Given the description of an element on the screen output the (x, y) to click on. 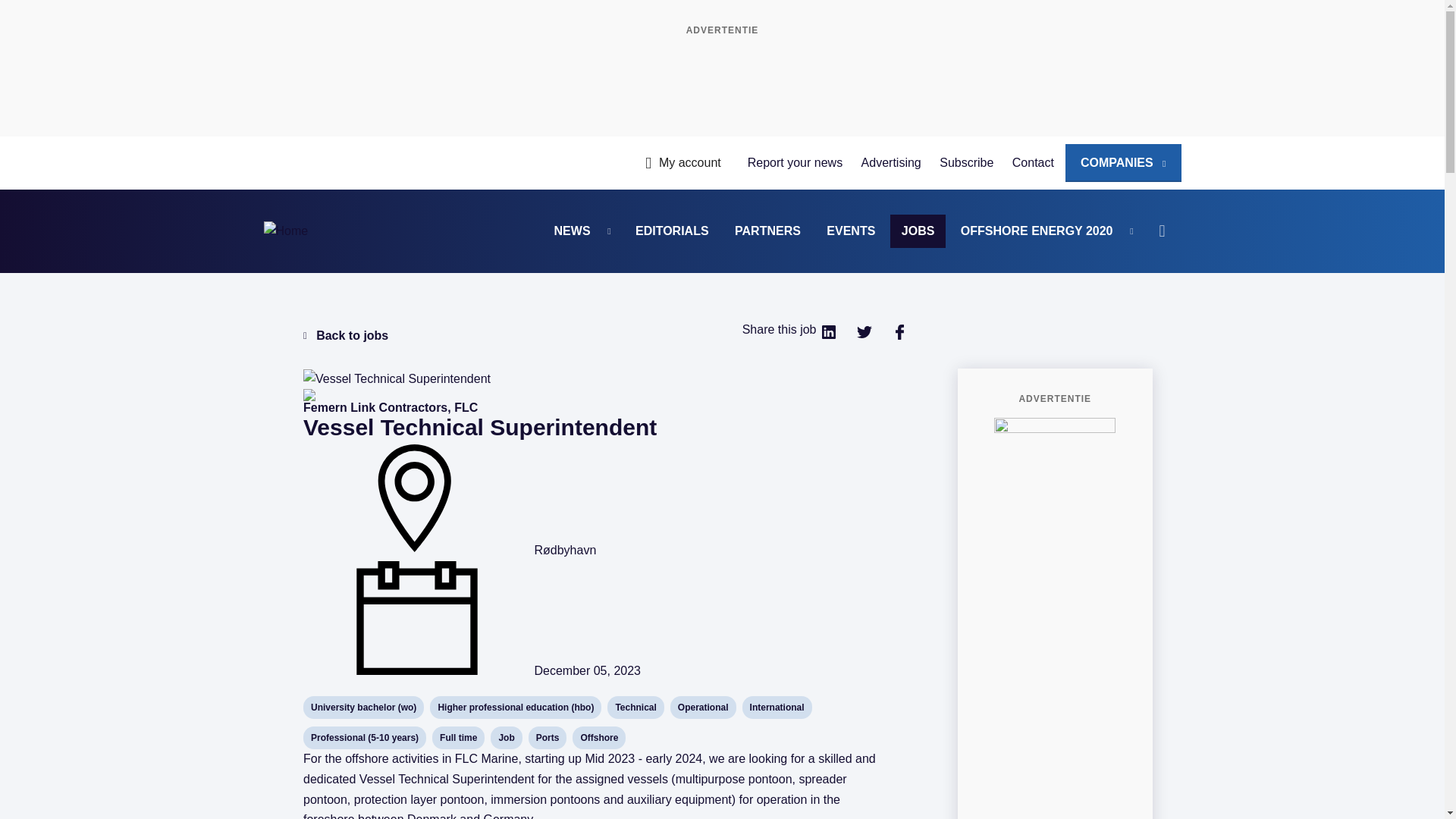
My account (683, 162)
Report your news (794, 162)
Advertising (890, 162)
COMPANIES (1122, 162)
Subscribe (966, 162)
Contact (1032, 162)
